Given the description of an element on the screen output the (x, y) to click on. 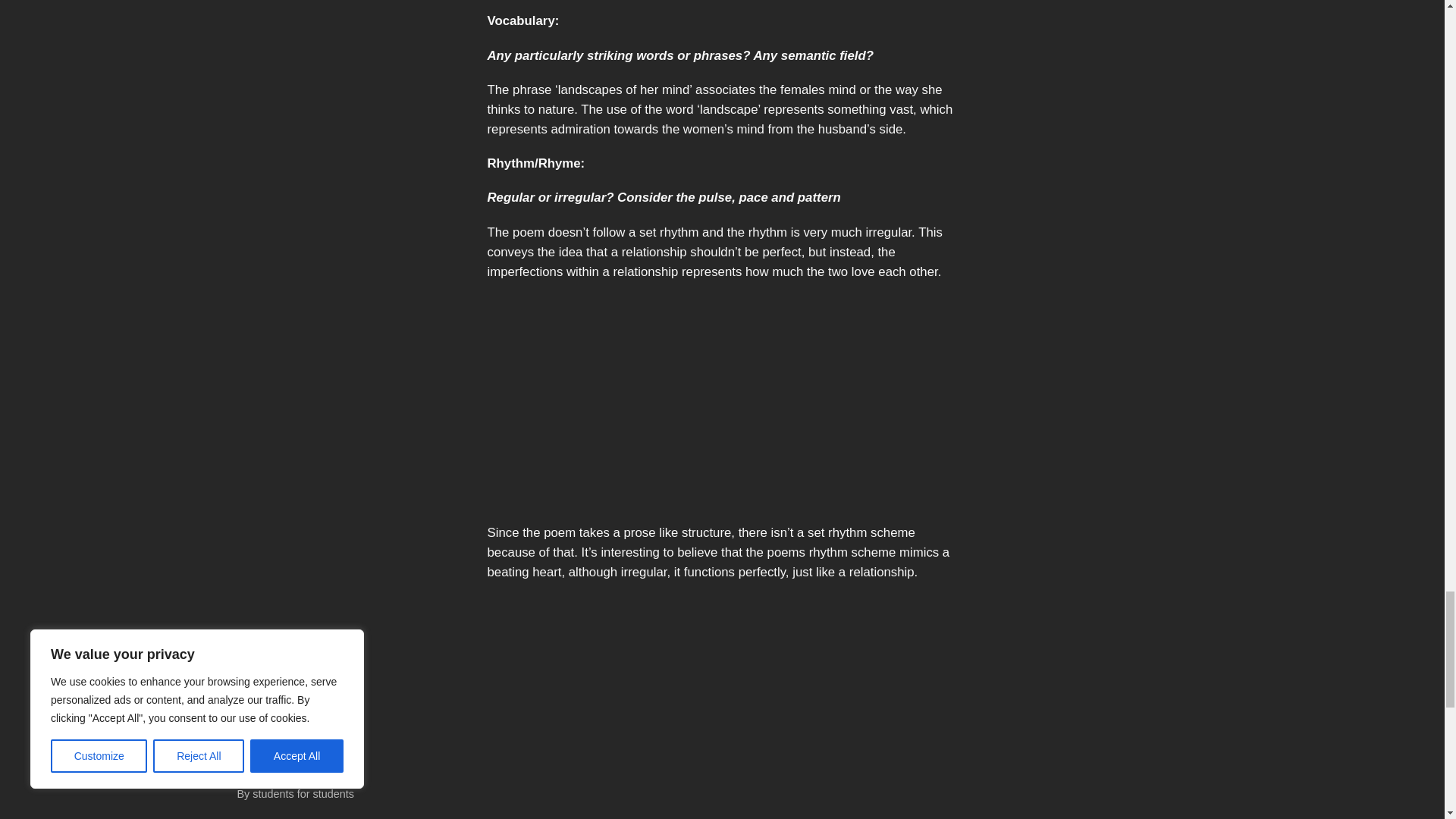
Backnotes (268, 760)
